Given the description of an element on the screen output the (x, y) to click on. 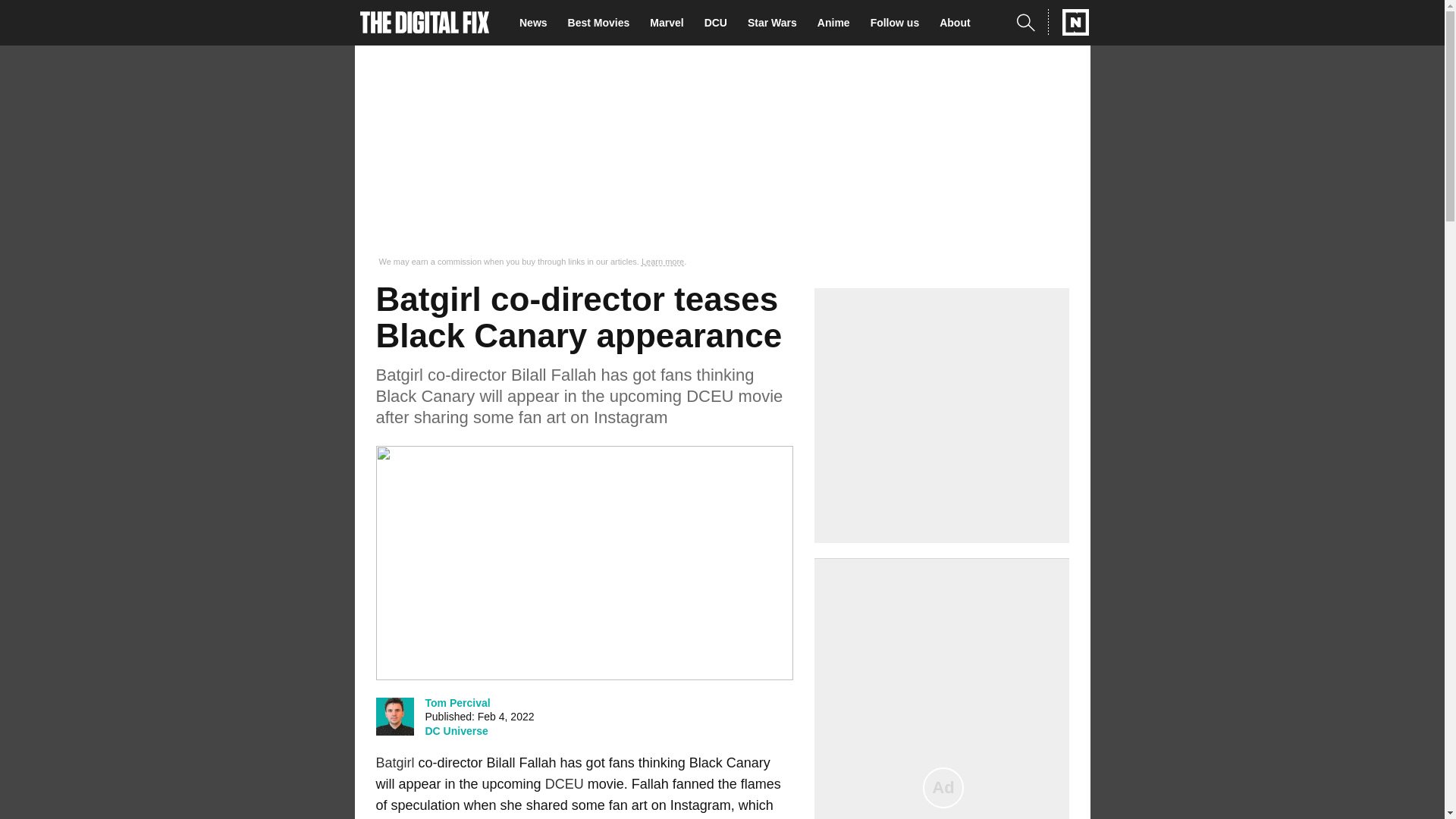
Tom Percival (457, 702)
Network N Media (1068, 22)
Star Wars News (777, 22)
Anime (837, 22)
Marvel Cinematic Universe News (671, 22)
Best Movies (603, 22)
Star Wars (777, 22)
Batgirl (394, 762)
Learn more (663, 261)
Anime News (837, 22)
Marvel (671, 22)
DC Universe (456, 730)
Follow us (899, 22)
DCEU (563, 783)
The Digital Fix (424, 22)
